Given the description of an element on the screen output the (x, y) to click on. 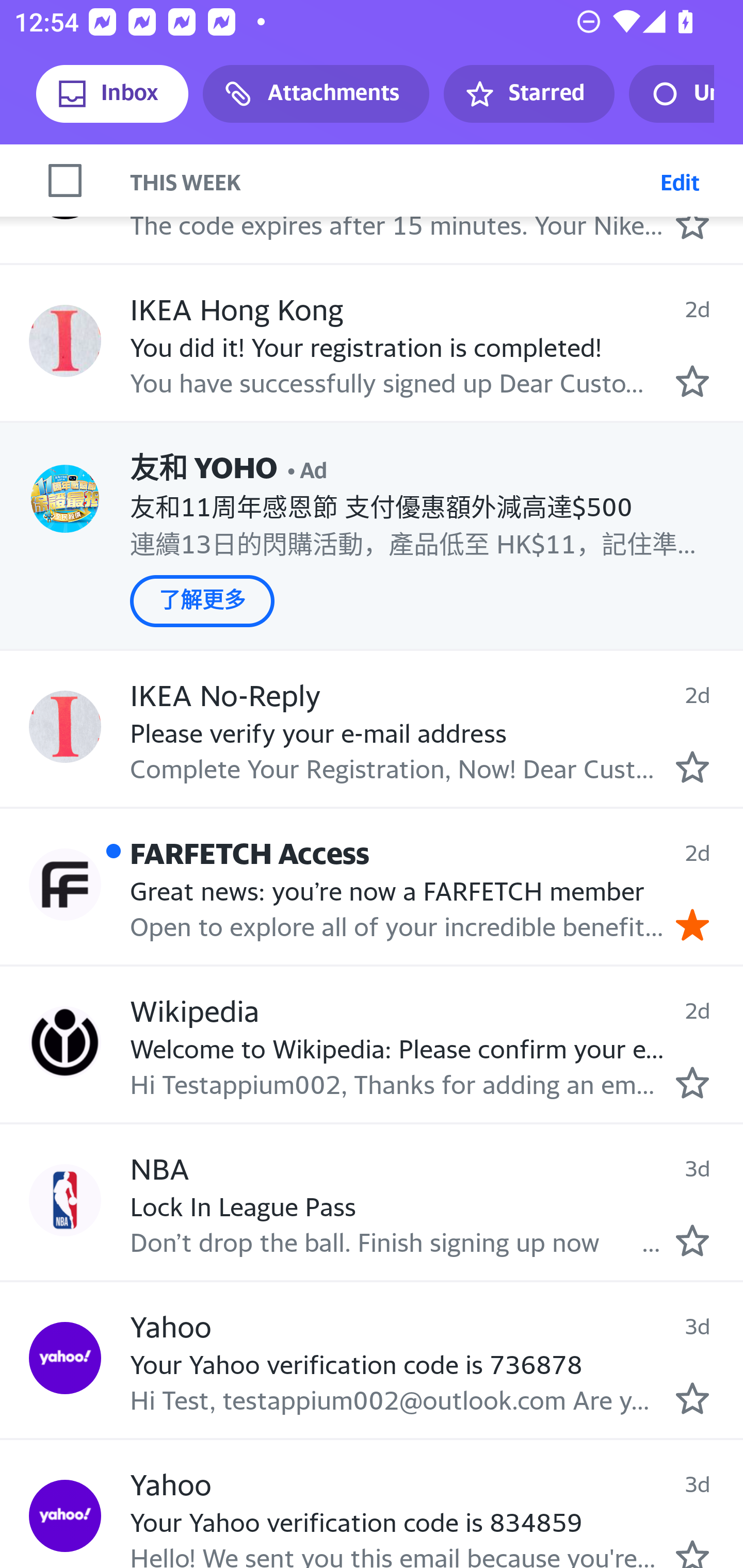
Attachments (315, 93)
Starred (528, 93)
Profile
Nike (64, 183)
Mark as starred. (692, 223)
Profile
IKEA Hong Kong (64, 340)
Mark as starred. (692, 381)
Profile
IKEA No-Reply (64, 726)
Mark as starred. (692, 767)
Profile
FARFETCH Access (64, 884)
Remove star. (692, 924)
Profile
Wikipedia (64, 1042)
Mark as starred. (692, 1082)
Profile
NBA (64, 1199)
Mark as starred. (692, 1241)
Profile
Yahoo (64, 1357)
Mark as starred. (692, 1397)
Profile
Yahoo (64, 1516)
Mark as starred. (692, 1553)
